Given the description of an element on the screen output the (x, y) to click on. 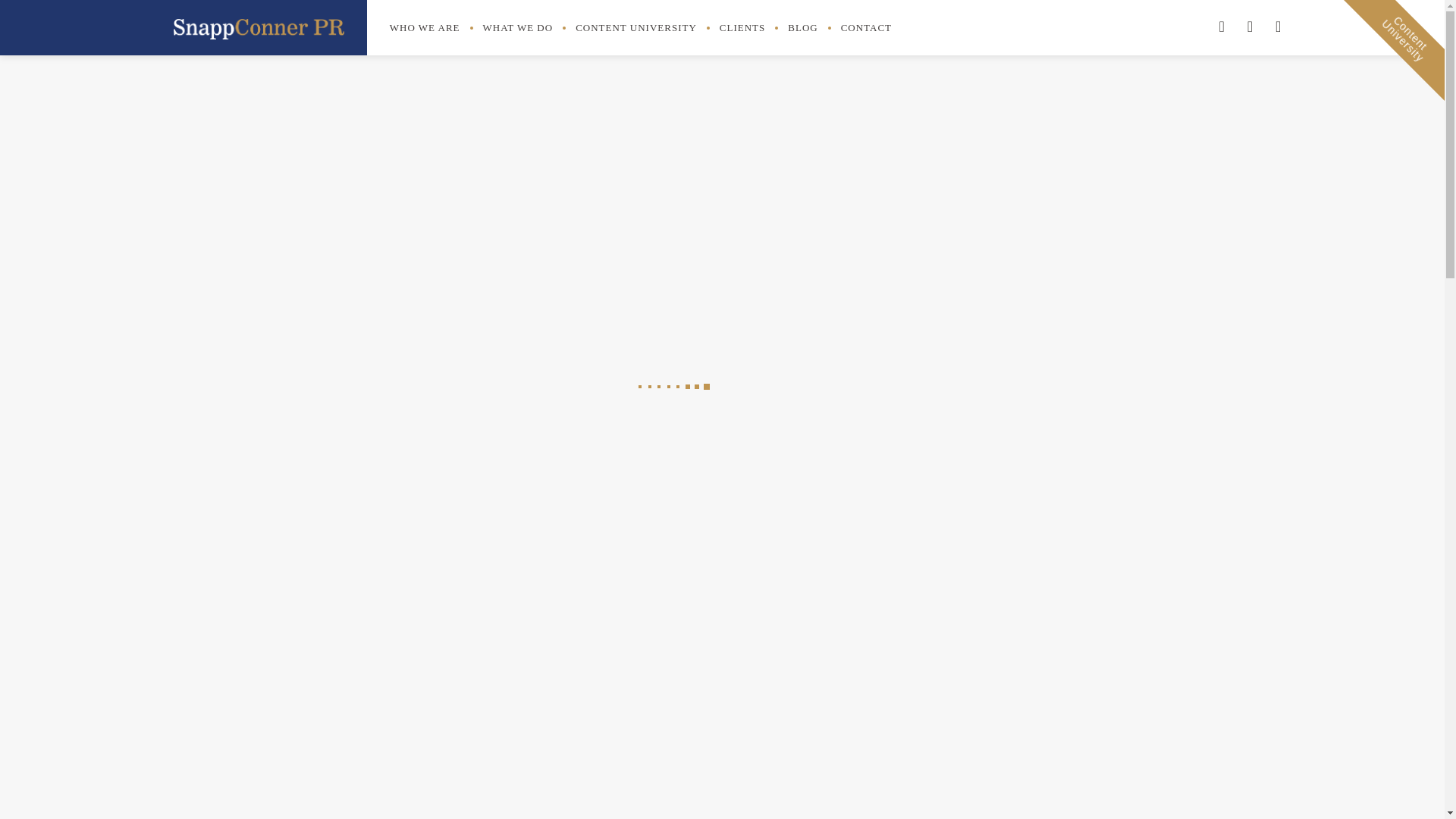
Business Tips (949, 618)
Content (935, 700)
CONTENT UNIVERSITY (636, 27)
WHO WE ARE (425, 27)
Awards (934, 454)
Go to Homepage (258, 25)
Business News (953, 563)
Crisis PR (938, 727)
BLOG (1405, 25)
Business Strategy (711, 200)
Blog (960, 591)
Communication Tips (927, 481)
Brand Management (965, 673)
Industry News (963, 536)
